Given the description of an element on the screen output the (x, y) to click on. 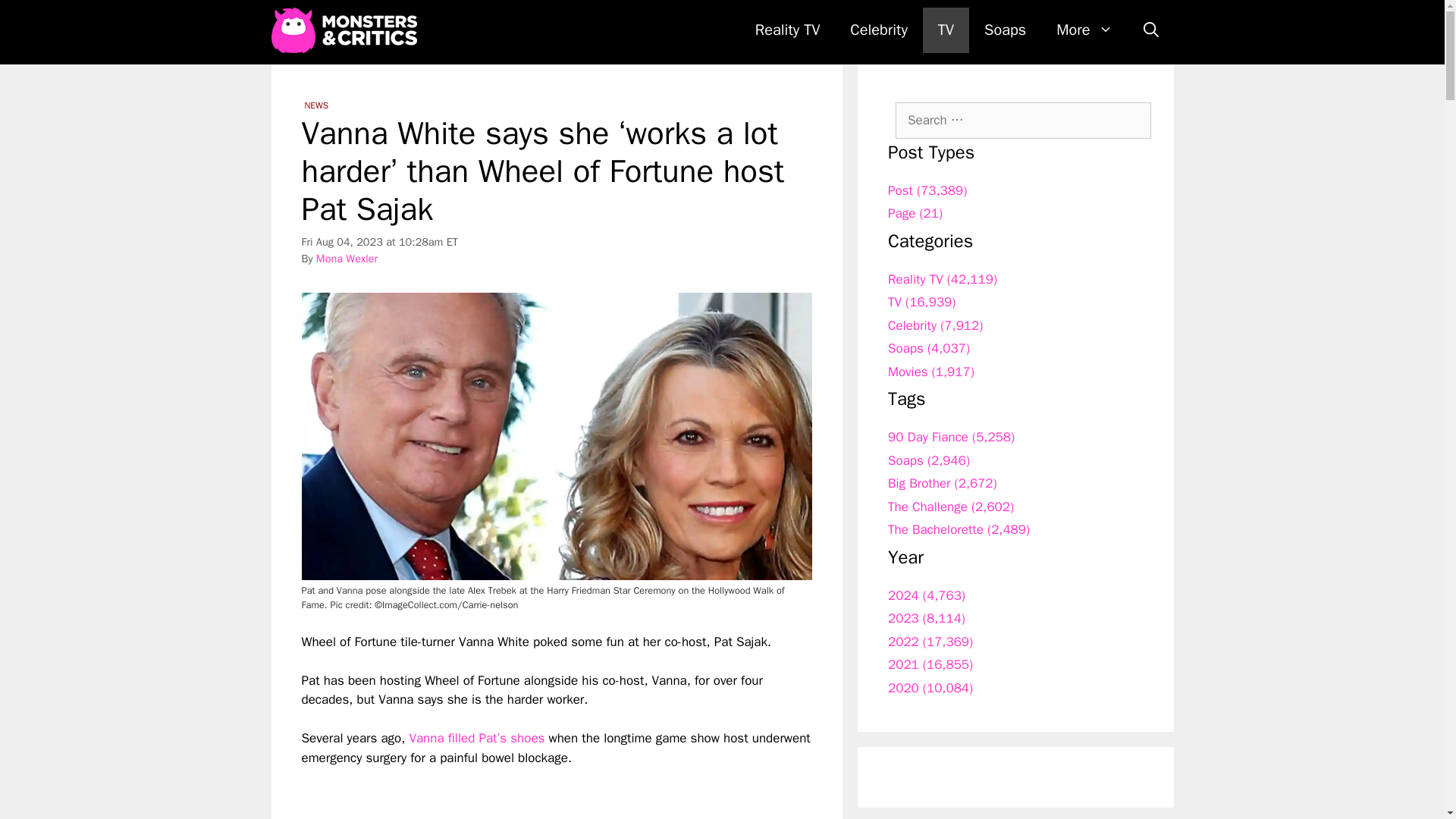
Monsters and Critics (343, 30)
More (1083, 30)
Mona Wexler (346, 258)
Monsters and Critics (347, 30)
Soaps (1005, 30)
YouTube video player (513, 793)
Reality TV (787, 30)
Search for: (1023, 120)
TV (946, 30)
Celebrity (877, 30)
View all posts by Mona Wexler (346, 258)
